Given the description of an element on the screen output the (x, y) to click on. 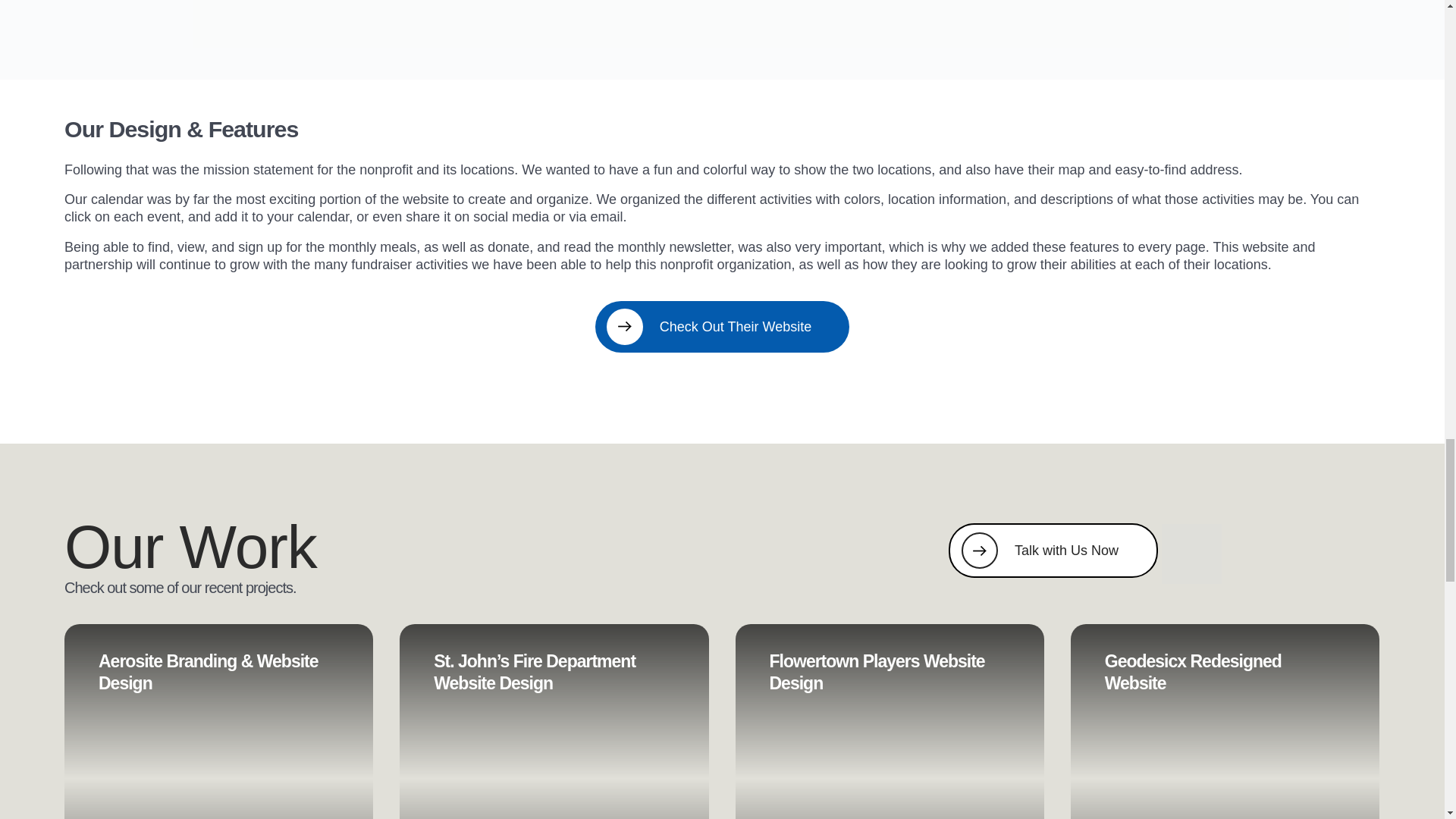
Flowertown Players Website Design (889, 721)
Flowertown Players Website Design (876, 672)
Geodesicx Redesigned Website (1193, 672)
Geodesicx Redesigned Website (1224, 721)
